Given the description of an element on the screen output the (x, y) to click on. 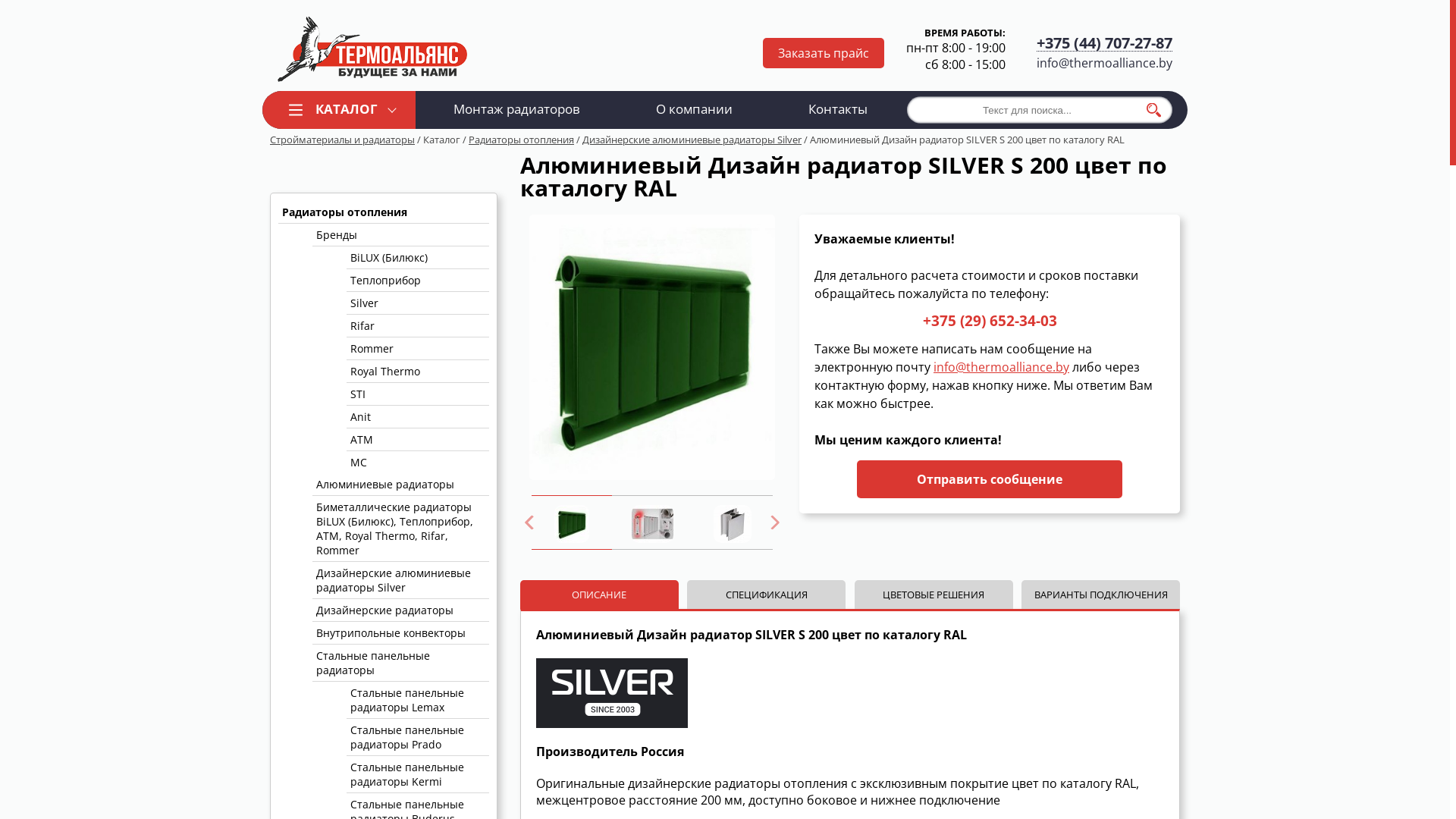
info@thermoalliance.by Element type: text (1001, 366)
info@thermoalliance.by Element type: text (1104, 62)
Anit Element type: text (417, 416)
Silver Element type: text (417, 302)
MC Element type: text (417, 462)
+375 (29) 652-34-03 Element type: text (989, 321)
Rommer Element type: text (417, 348)
STI Element type: text (417, 393)
+375 (44) 707-27-87 Element type: text (1104, 43)
Rifar Element type: text (417, 325)
Royal Thermo Element type: text (417, 371)
ATM Element type: text (417, 439)
